Given the description of an element on the screen output the (x, y) to click on. 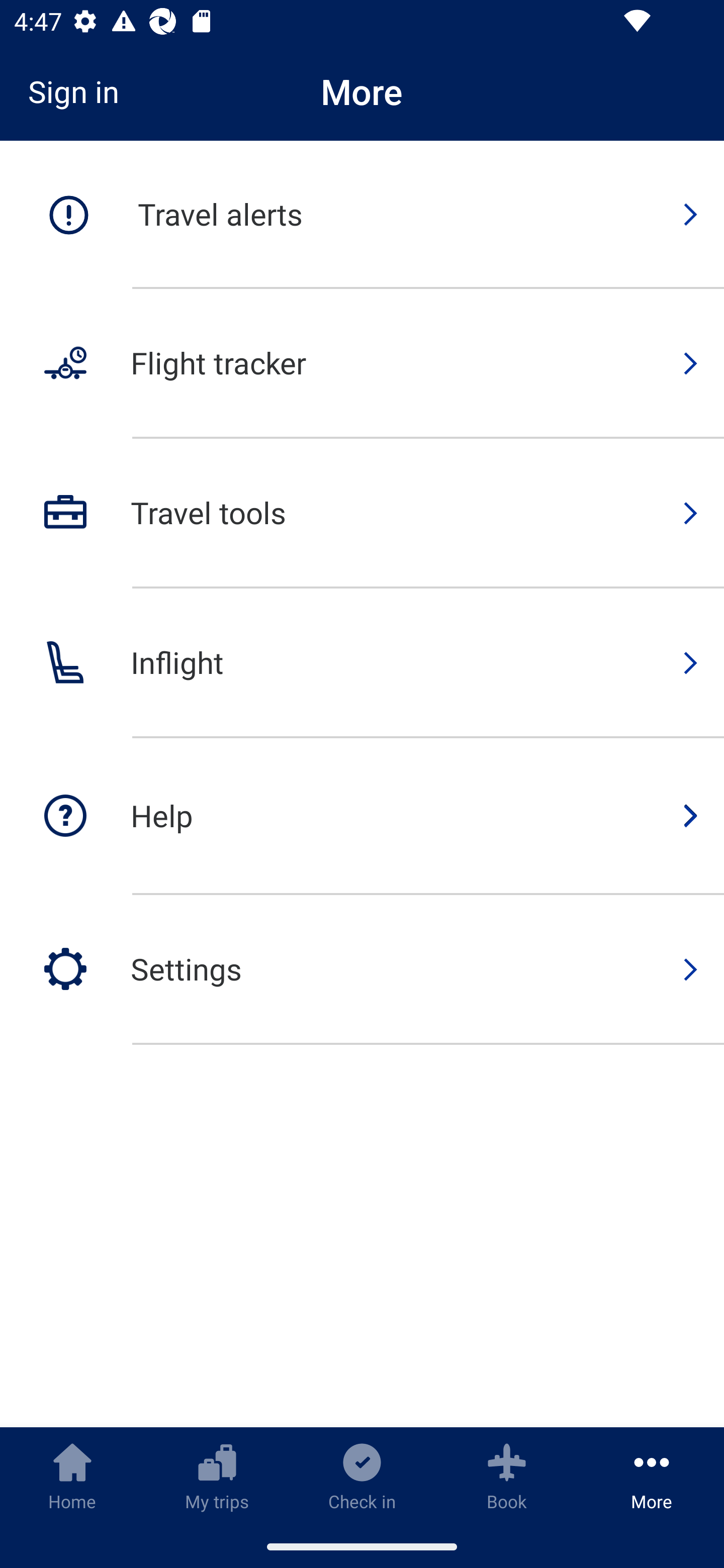
Sign in (80, 91)
Travel alerts (362, 214)
Flight tracker (362, 363)
Travel tools (362, 513)
Inflight (362, 663)
Help (362, 816)
Settings (362, 969)
Home (72, 1475)
My trips (216, 1475)
Check in (361, 1475)
Book (506, 1475)
